Given the description of an element on the screen output the (x, y) to click on. 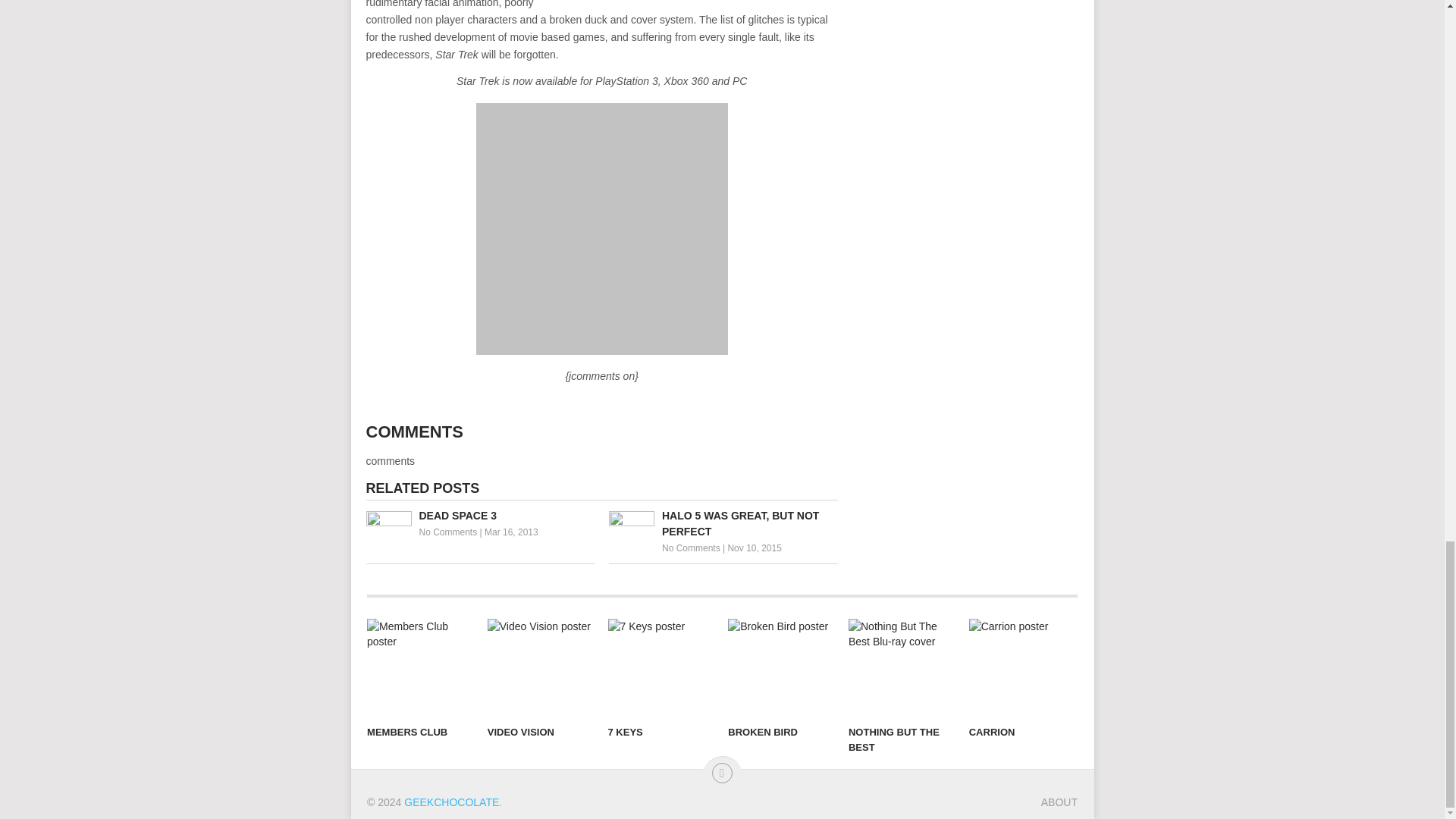
HALO 5 WAS GREAT, BUT NOT PERFECT (723, 523)
DEAD SPACE 3 (479, 515)
No Comments (448, 532)
No Comments (691, 547)
Dead Space 3 (479, 515)
Halo 5 was great, but not perfect (723, 523)
